Given the description of an element on the screen output the (x, y) to click on. 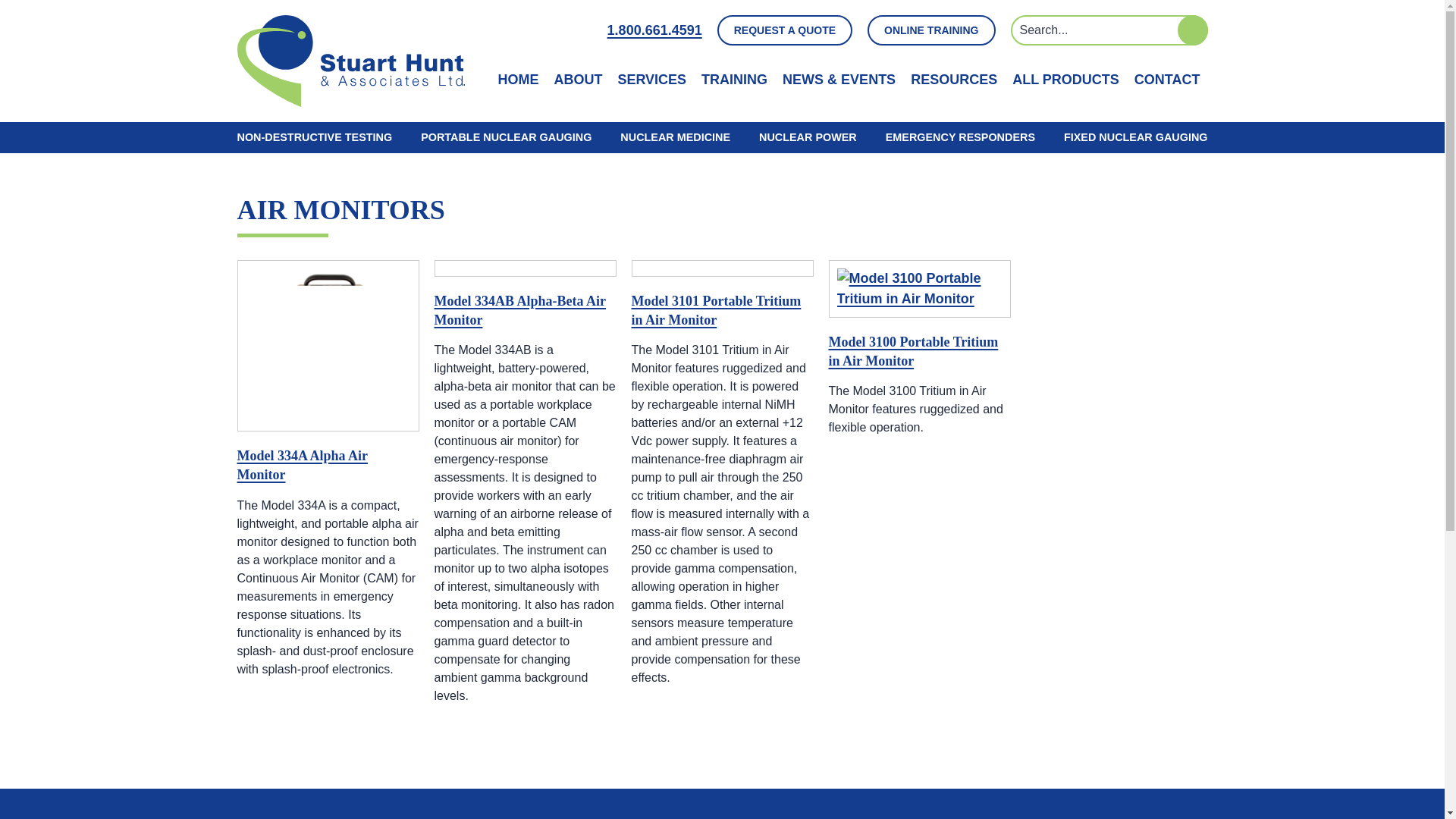
ONLINE TRAINING (930, 30)
TRAINING (734, 79)
CONTACT (1166, 79)
HOME (517, 79)
RESOURCES (954, 79)
website search (1108, 30)
1.800.661.4591 (654, 29)
ABOUT (577, 79)
SERVICES (651, 79)
ALL PRODUCTS (1065, 79)
